Given the description of an element on the screen output the (x, y) to click on. 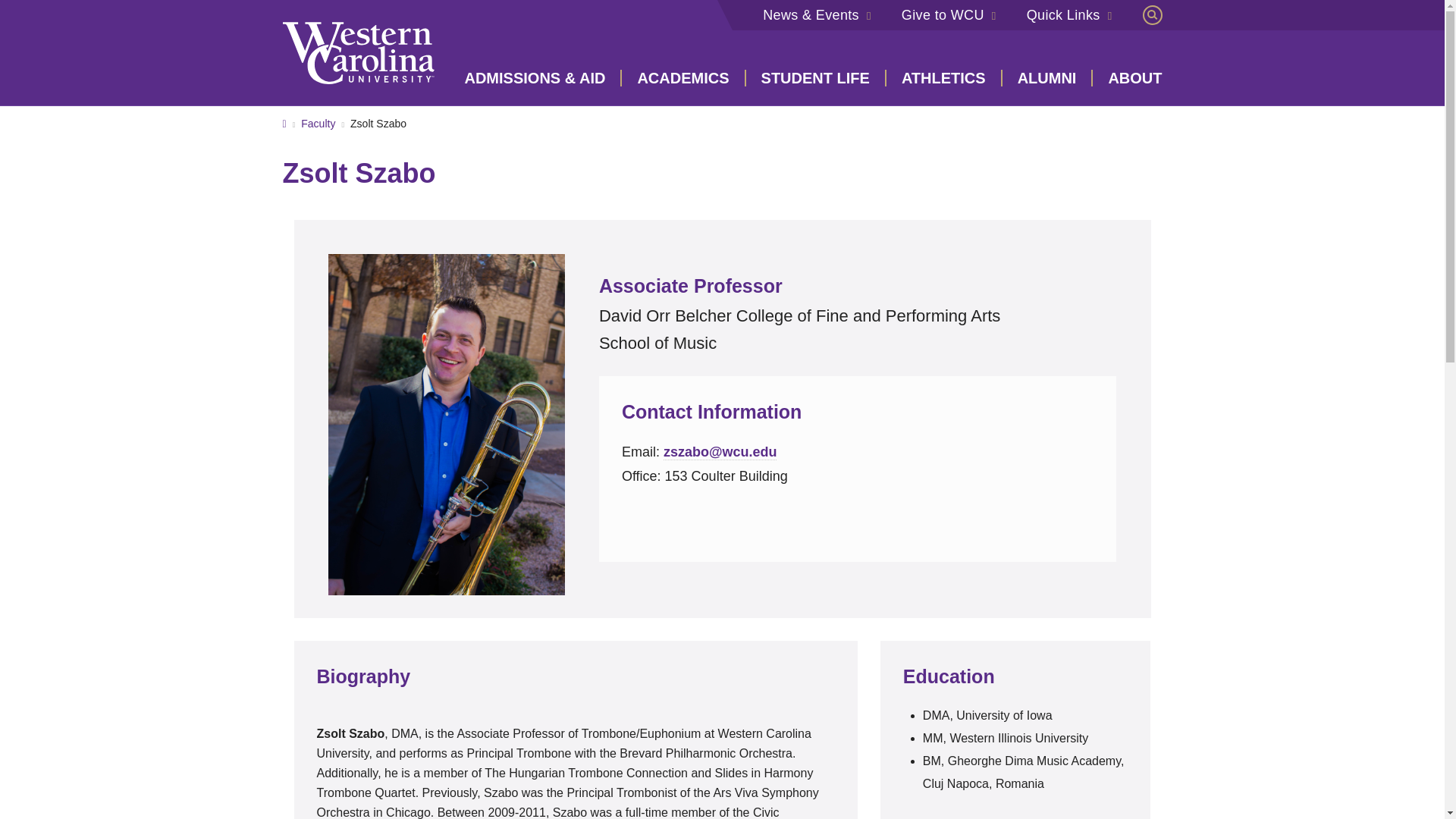
ABOUT (1127, 77)
ATHLETICS (944, 77)
STUDENT LIFE (815, 77)
Give to WCU (948, 15)
Quick Links (1068, 15)
ACADEMICS (683, 77)
ALUMNI (1048, 77)
